Given the description of an element on the screen output the (x, y) to click on. 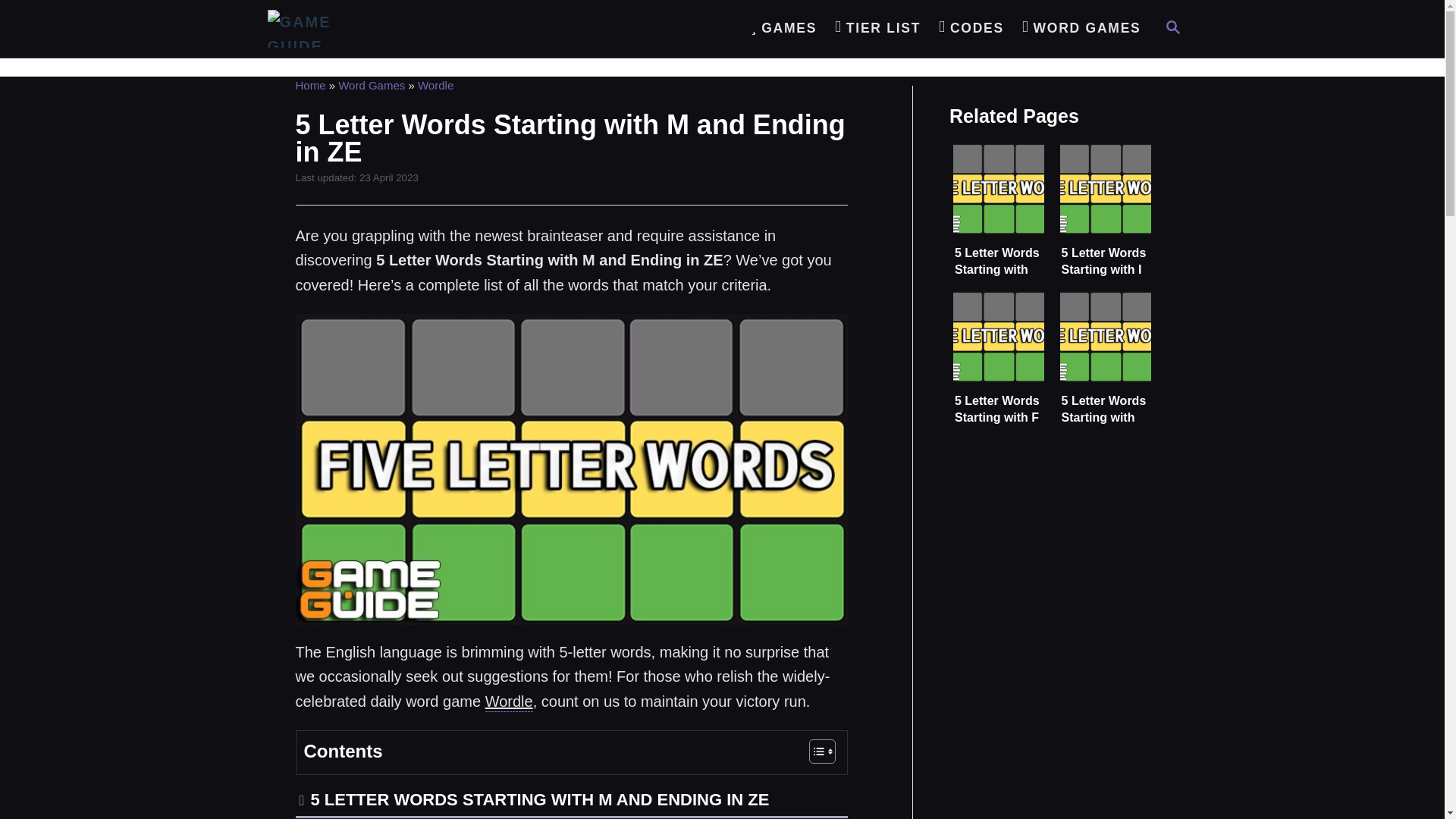
MAGNIFYING GLASS (1171, 27)
GAMES (783, 28)
WORD GAMES (1172, 28)
Game Guide (1081, 28)
Wordle (441, 28)
Word Games (434, 84)
CODES (370, 84)
TIER LIST (971, 28)
Wordle (877, 28)
Home (508, 703)
